Given the description of an element on the screen output the (x, y) to click on. 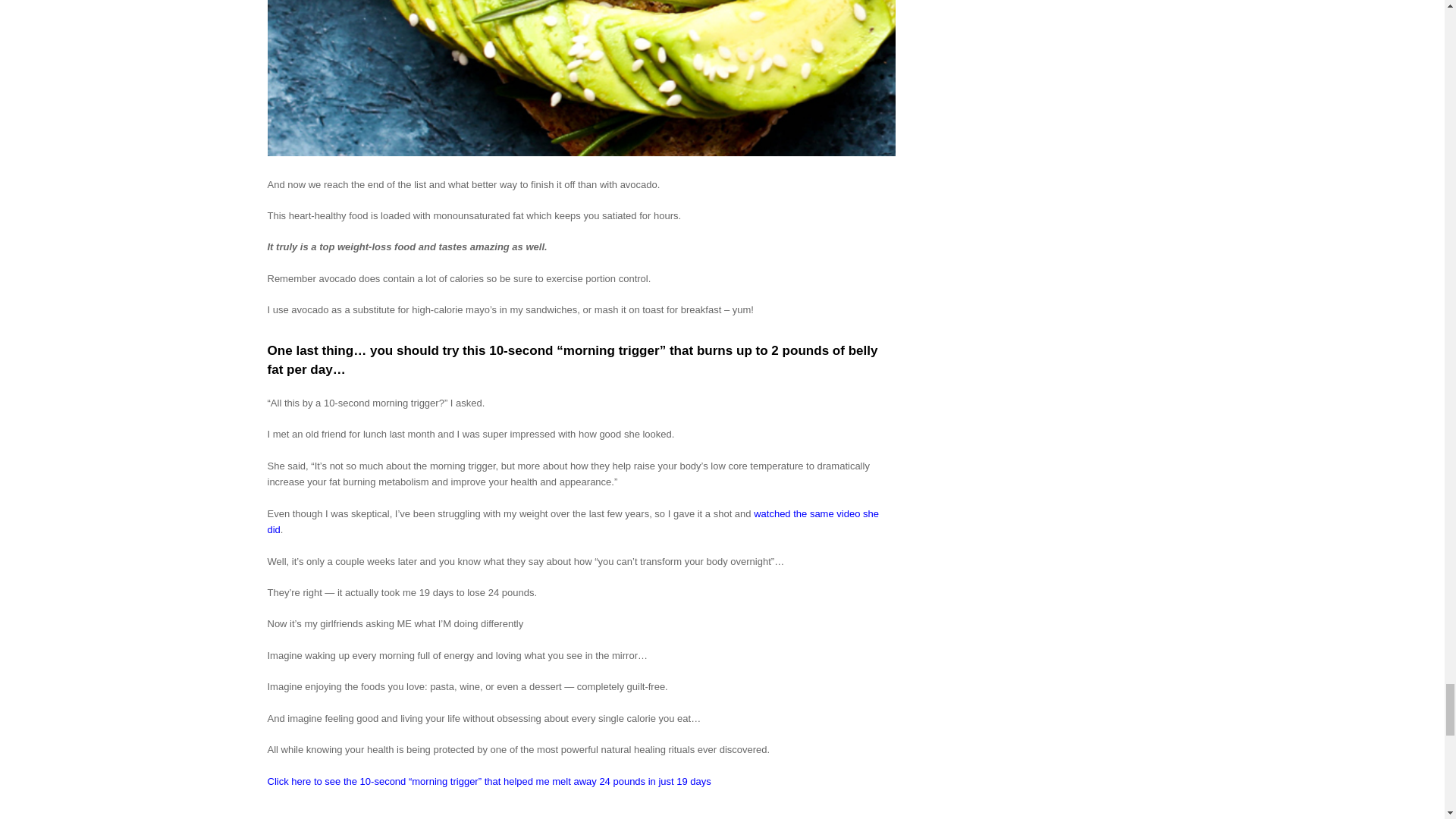
watched the same video she did (571, 521)
